Given the description of an element on the screen output the (x, y) to click on. 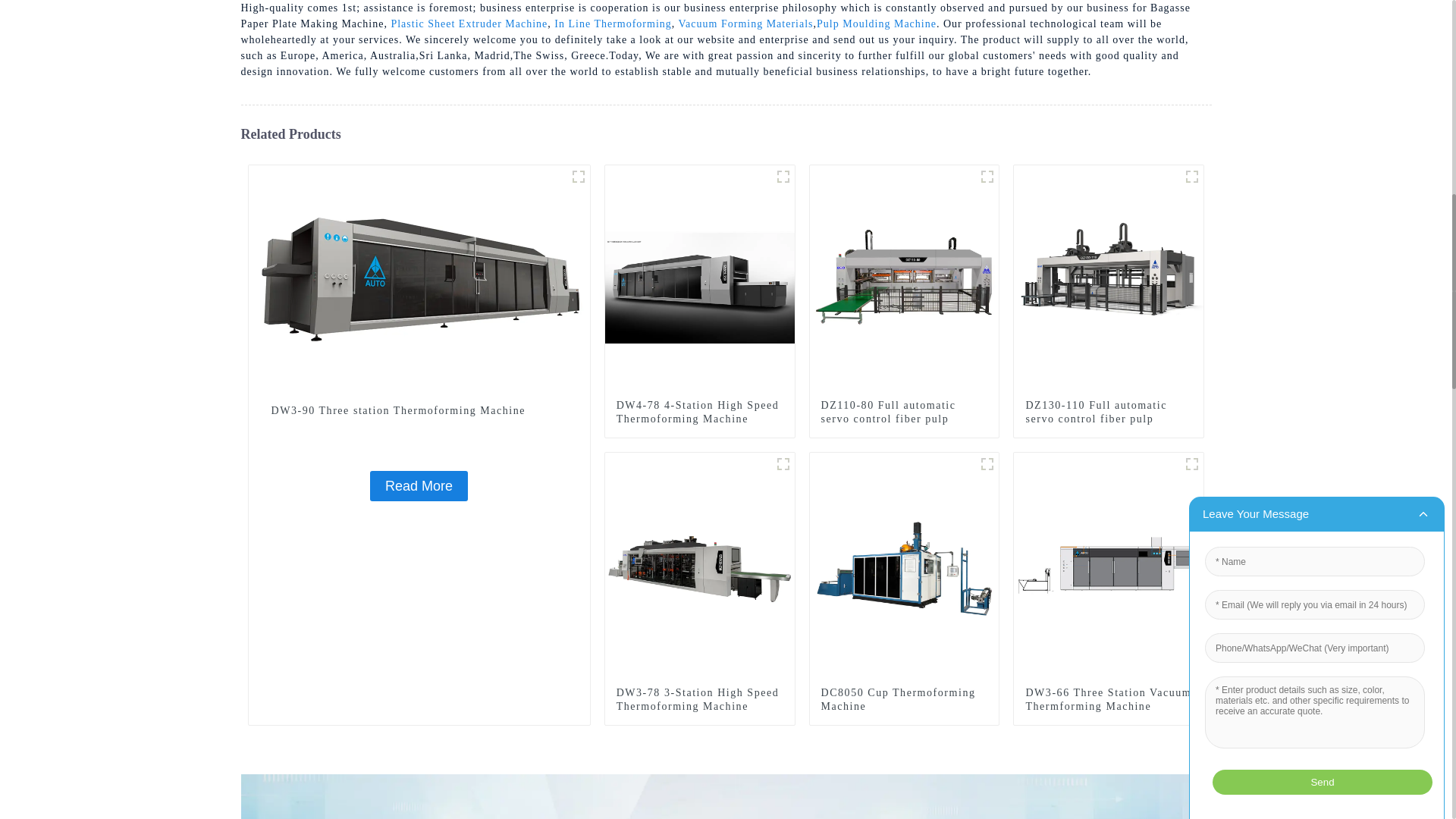
Vacuum Forming Materials (745, 23)
DW3-90 Three station Thermoforming Machine (418, 485)
DW3-78 3-Station High Speed Thermoforming Machine (699, 699)
DW3-90 Three station Thermoforming Machine (418, 277)
DW4-78 4-Station High Speed Thermoforming Machine (699, 411)
In Line Thermoforming (612, 23)
DZ110-80 (986, 176)
DW3-78 3-Station High Speed Thermoforming Machine (699, 566)
Pulp Moulding Machine (876, 23)
Read More (418, 485)
Plastic Sheet Extruder Machine (468, 23)
DW4-78 4-Station High Speed Thermoforming Machine (699, 278)
